Given the description of an element on the screen output the (x, y) to click on. 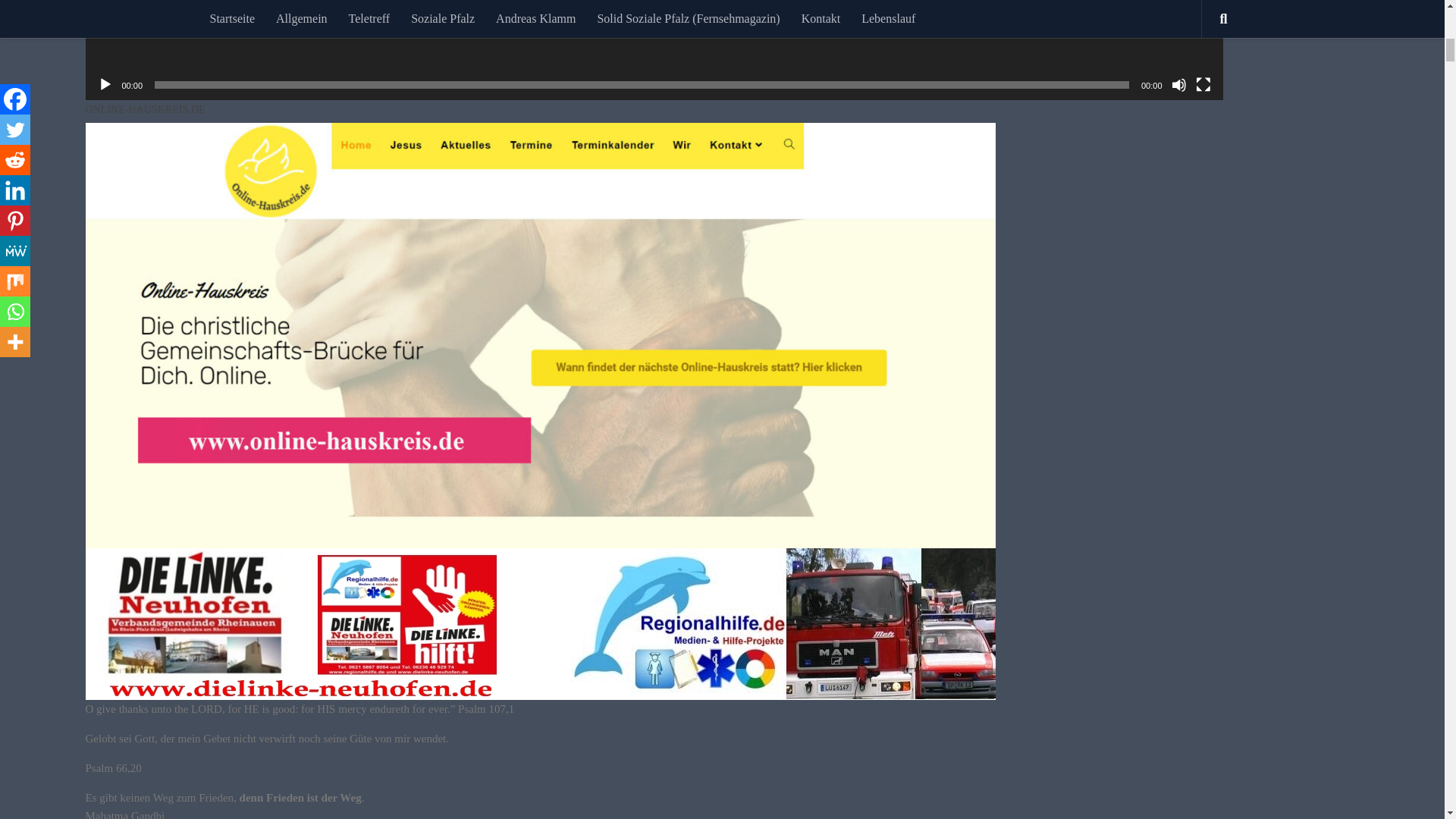
Play (104, 84)
Fullscreen (1202, 84)
Mute (1178, 84)
